Given the description of an element on the screen output the (x, y) to click on. 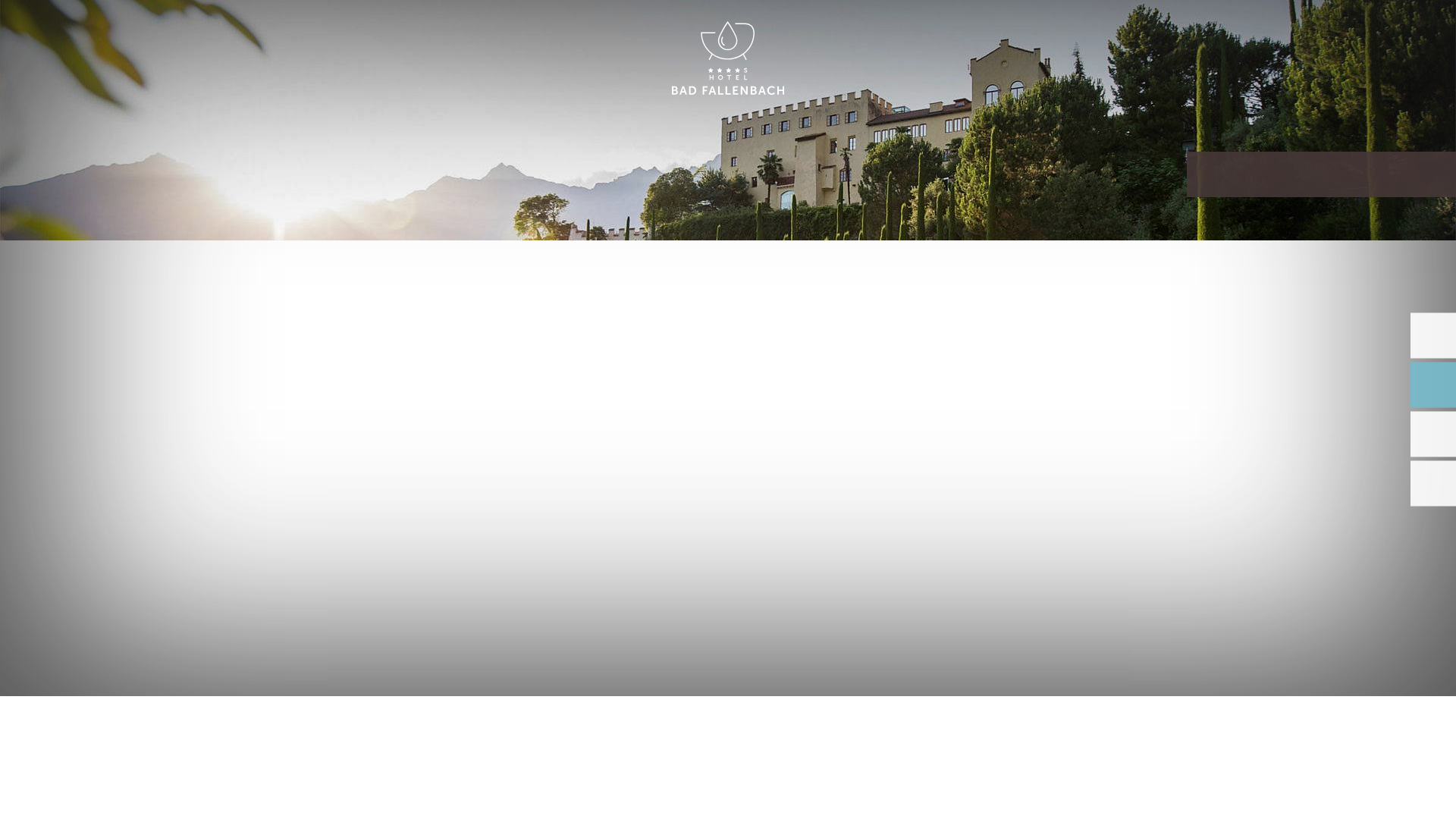
ENGLISH (1291, 29)
HOTEL BAD FALLENBACH (727, 59)
